Given the description of an element on the screen output the (x, y) to click on. 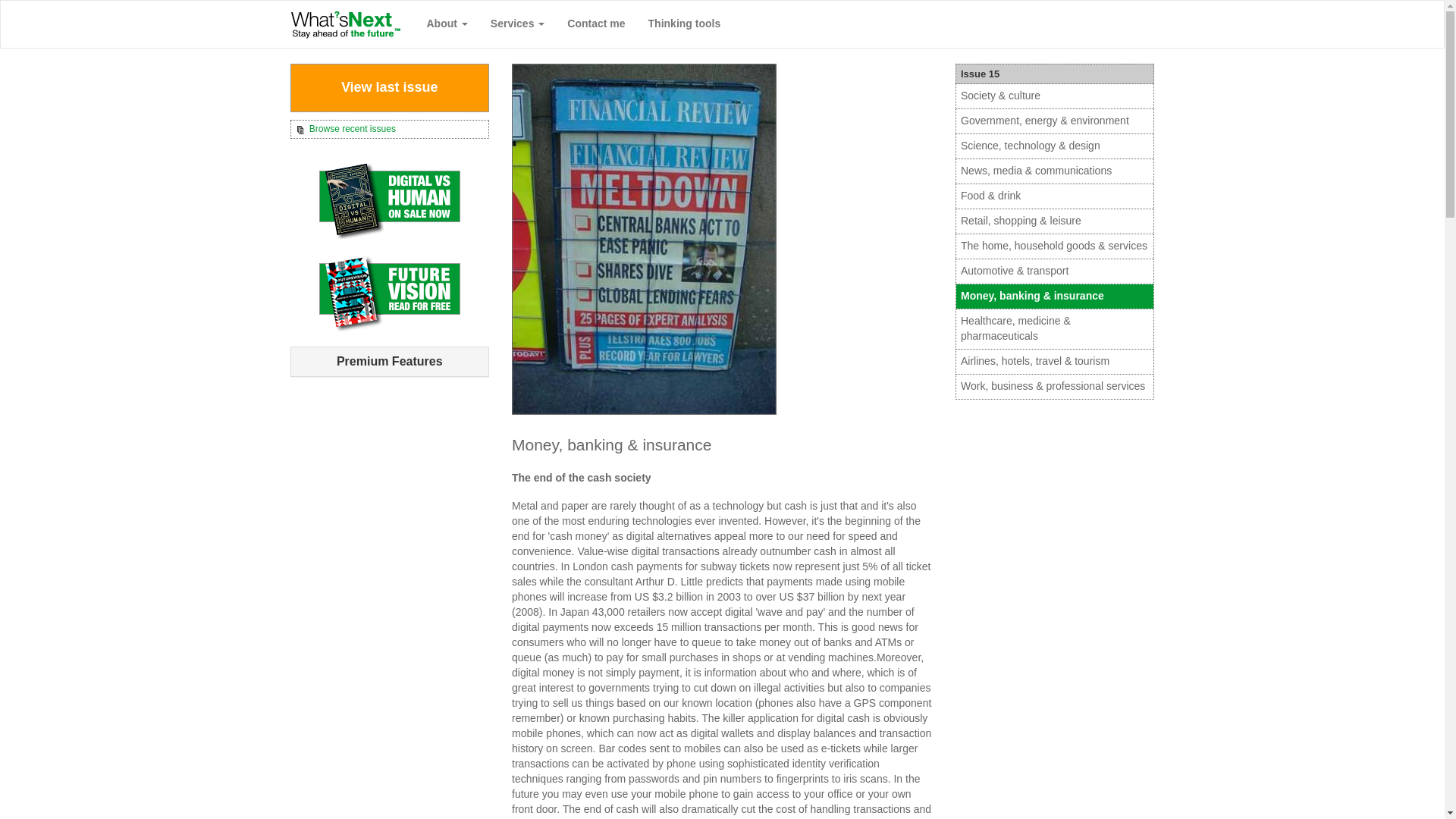
Services (517, 23)
View last issue (390, 87)
Contact me (596, 23)
 Browse recent issues (390, 129)
Premium Features (389, 361)
Thinking tools (684, 23)
About (446, 23)
